Given the description of an element on the screen output the (x, y) to click on. 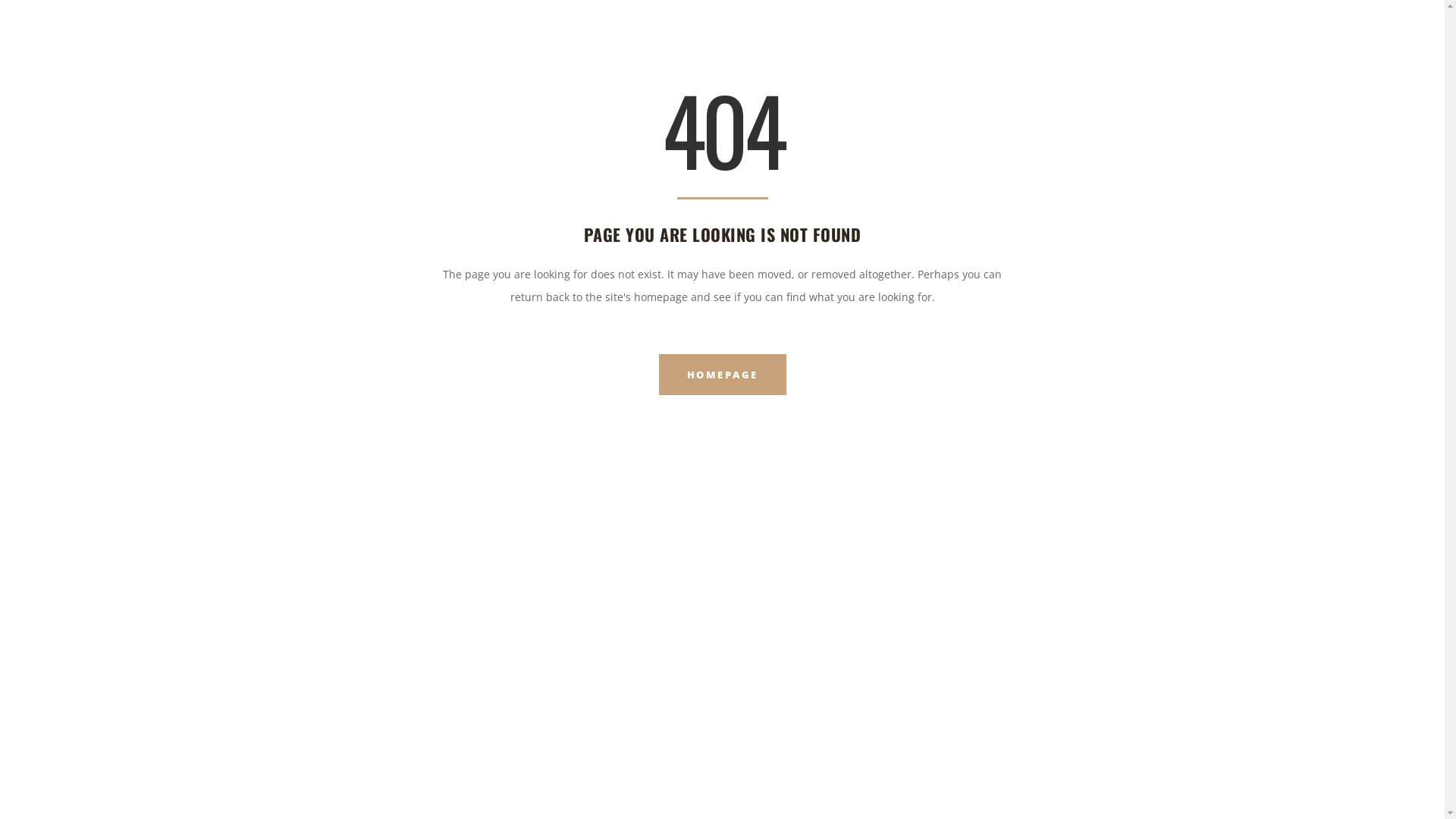
  Element type: text (1417, 26)
HOMEPAGE Element type: text (721, 374)
